Given the description of an element on the screen output the (x, y) to click on. 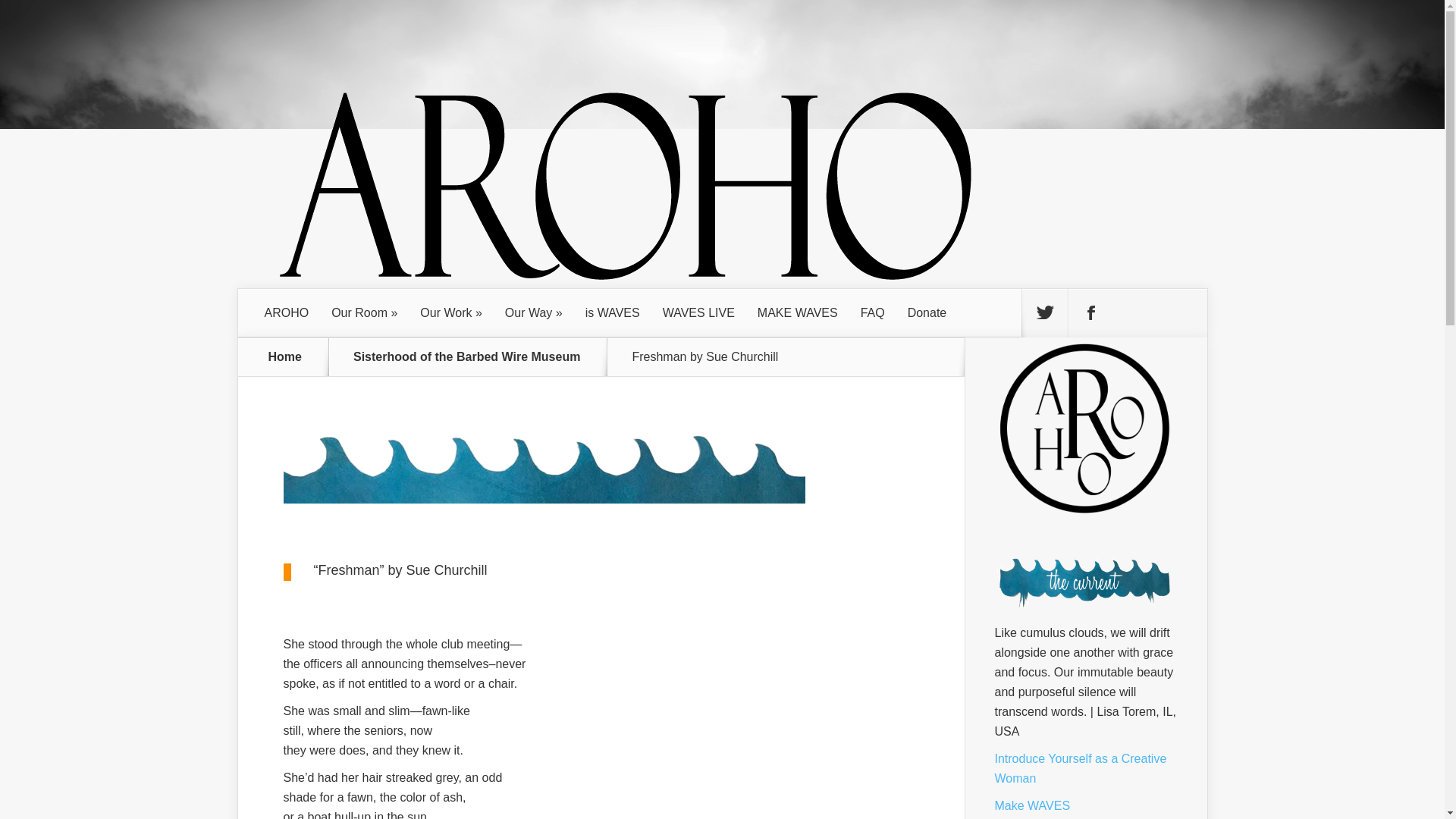
Our Room (364, 313)
Our Way (533, 313)
AROHO (286, 313)
Our Work (451, 313)
